Given the description of an element on the screen output the (x, y) to click on. 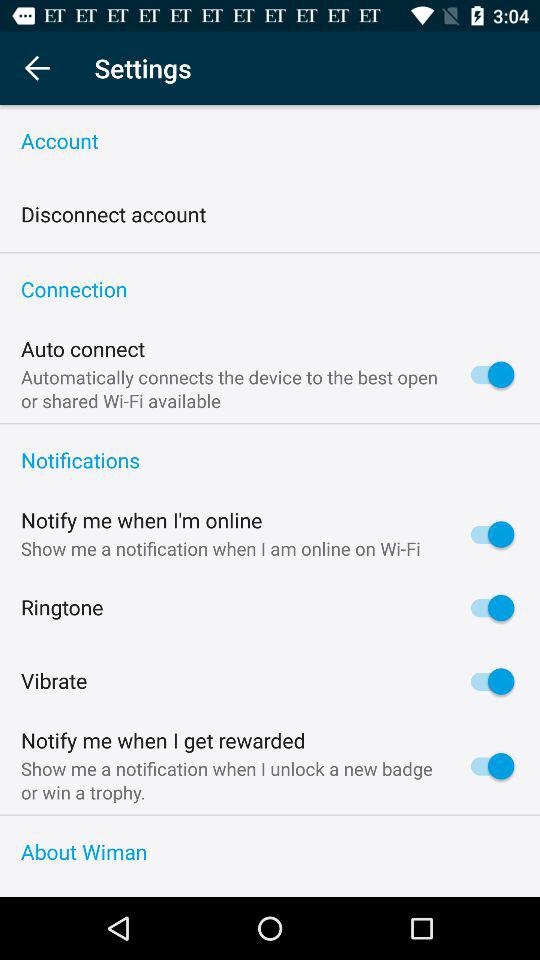
tap the icon above auto connect item (270, 289)
